Given the description of an element on the screen output the (x, y) to click on. 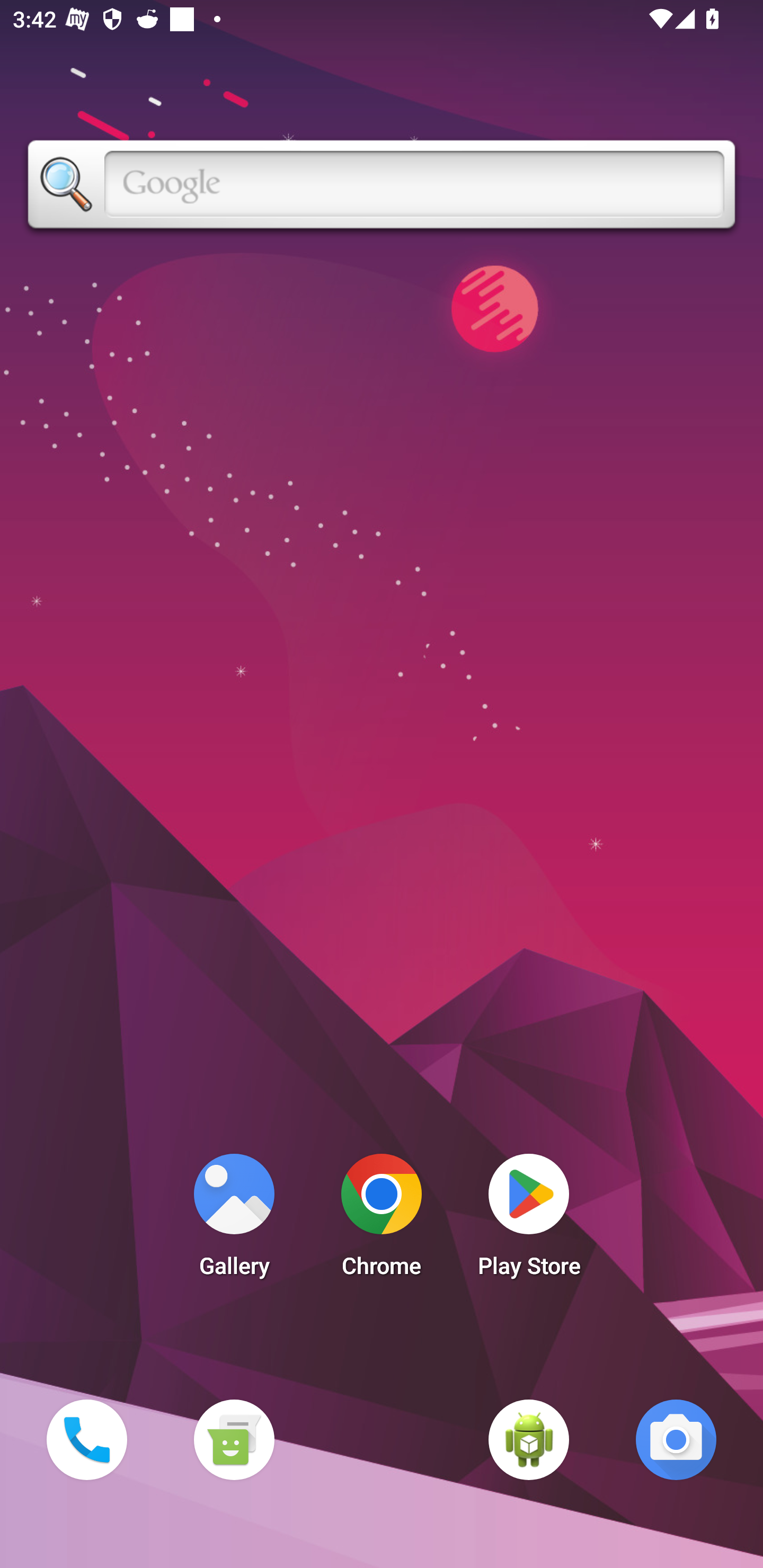
Gallery (233, 1220)
Chrome (381, 1220)
Play Store (528, 1220)
Phone (86, 1439)
Messaging (233, 1439)
WebView Browser Tester (528, 1439)
Camera (676, 1439)
